Given the description of an element on the screen output the (x, y) to click on. 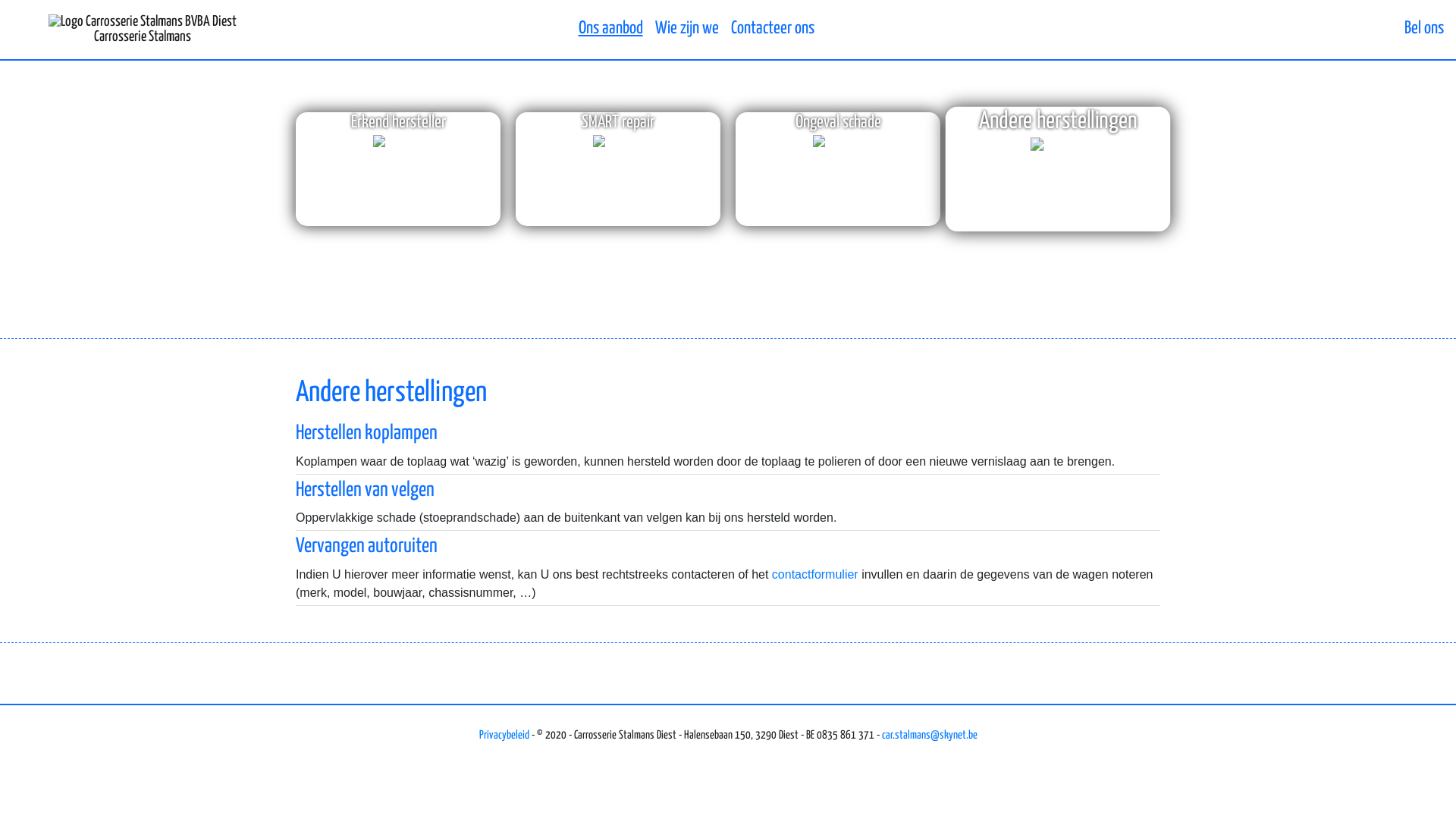
Carrosserie Stalmans Element type: text (142, 29)
Privacybeleid Element type: text (504, 734)
Erkend hersteller
Meer info.. Element type: text (398, 168)
Logo Carrosserie Stalmans BVBA Diest Element type: hover (142, 21)
Contacteer ons Element type: text (772, 28)
Ons aanbod Element type: text (609, 28)
Wie zijn we Element type: text (686, 28)
car.stalmans@skynet.be Element type: text (928, 734)
contactformulier Element type: text (814, 573)
Ongeval schade
Meer info.. Element type: text (837, 168)
Andere herstellingen
Meer info.. Element type: text (1057, 168)
SMART repair
Meer info.. Element type: text (618, 168)
